Given the description of an element on the screen output the (x, y) to click on. 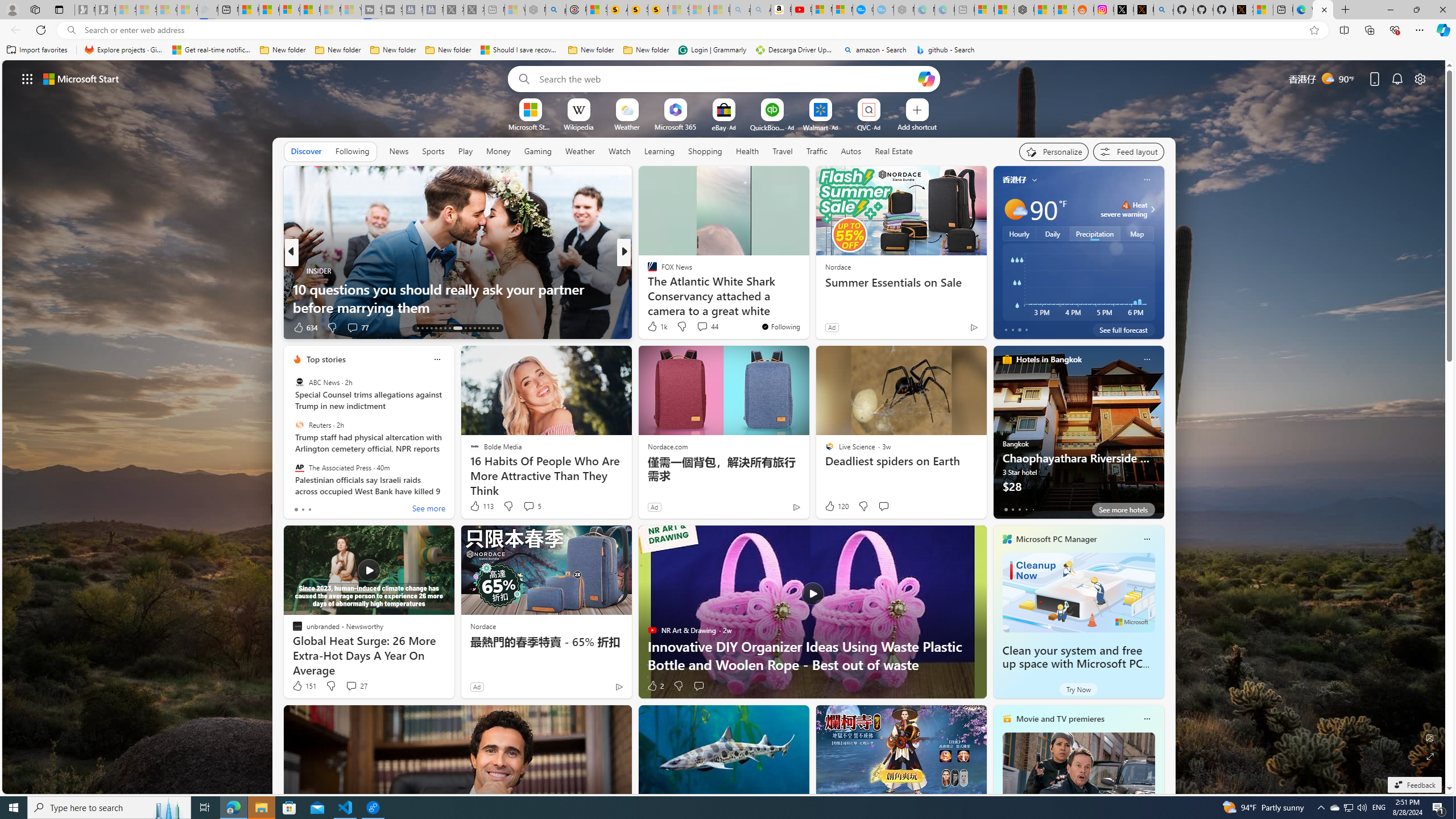
21 Like (652, 327)
Enter your search term (726, 78)
Hotels in Bangkok (1048, 359)
Favorites bar (728, 49)
Day 1: Arriving in Yemen (surreal to be here) - YouTube (801, 9)
Men Share The 14 Unspoken Rules for Successful Marriage (807, 298)
Nordace - Summer Adventures 2024 - Sleeping (534, 9)
Nordace.com (667, 446)
View comments 3 Comment (702, 327)
